Given the description of an element on the screen output the (x, y) to click on. 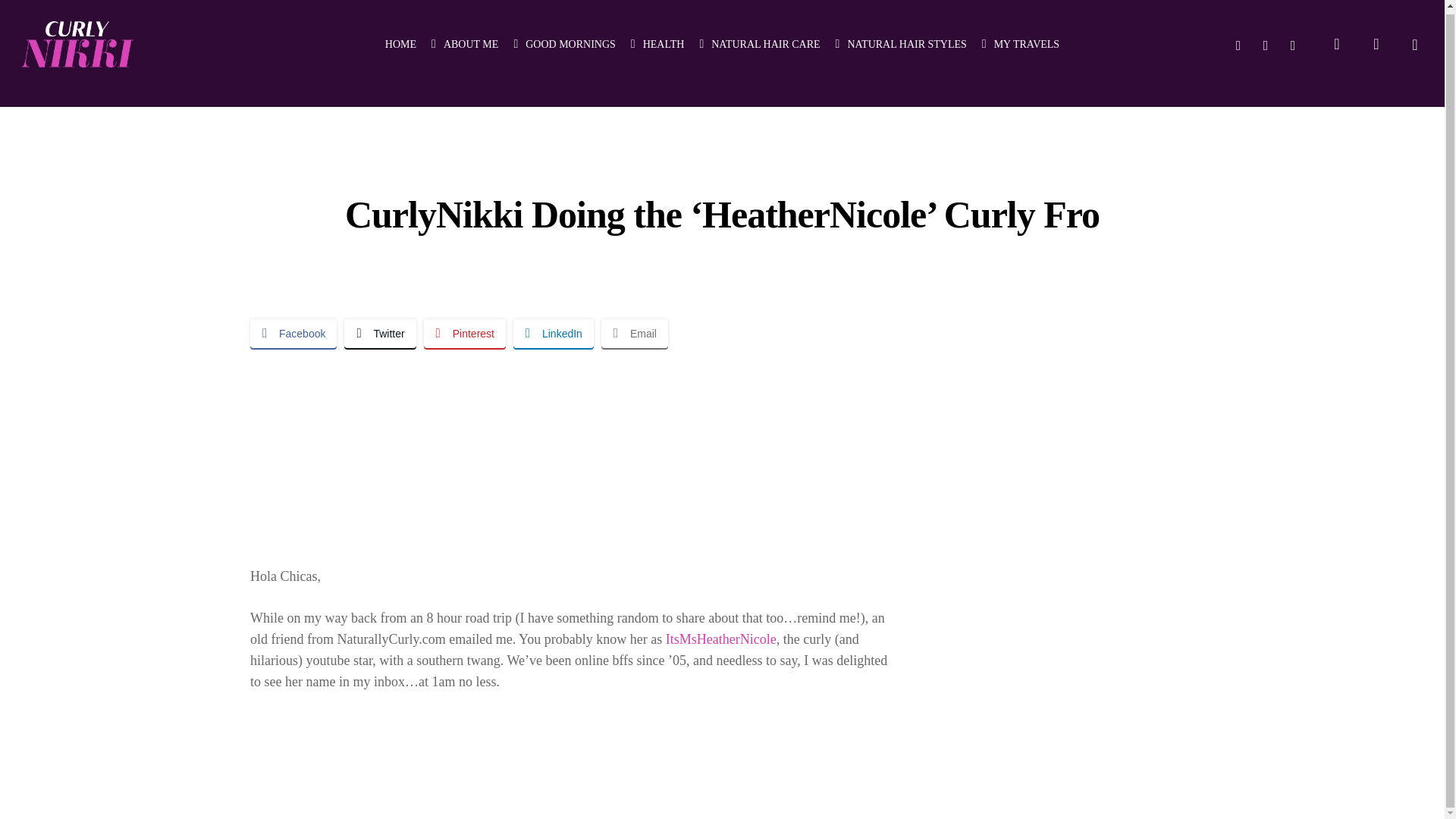
NATURAL HAIR CARE (758, 41)
HOME (400, 41)
CurlyNikki Doing the 'HeatherNicole' Curly Fro (572, 446)
HEALTH (657, 41)
NATURAL HAIR STYLES (900, 41)
GOOD MORNINGS (563, 41)
ABOUT ME (463, 41)
